Given the description of an element on the screen output the (x, y) to click on. 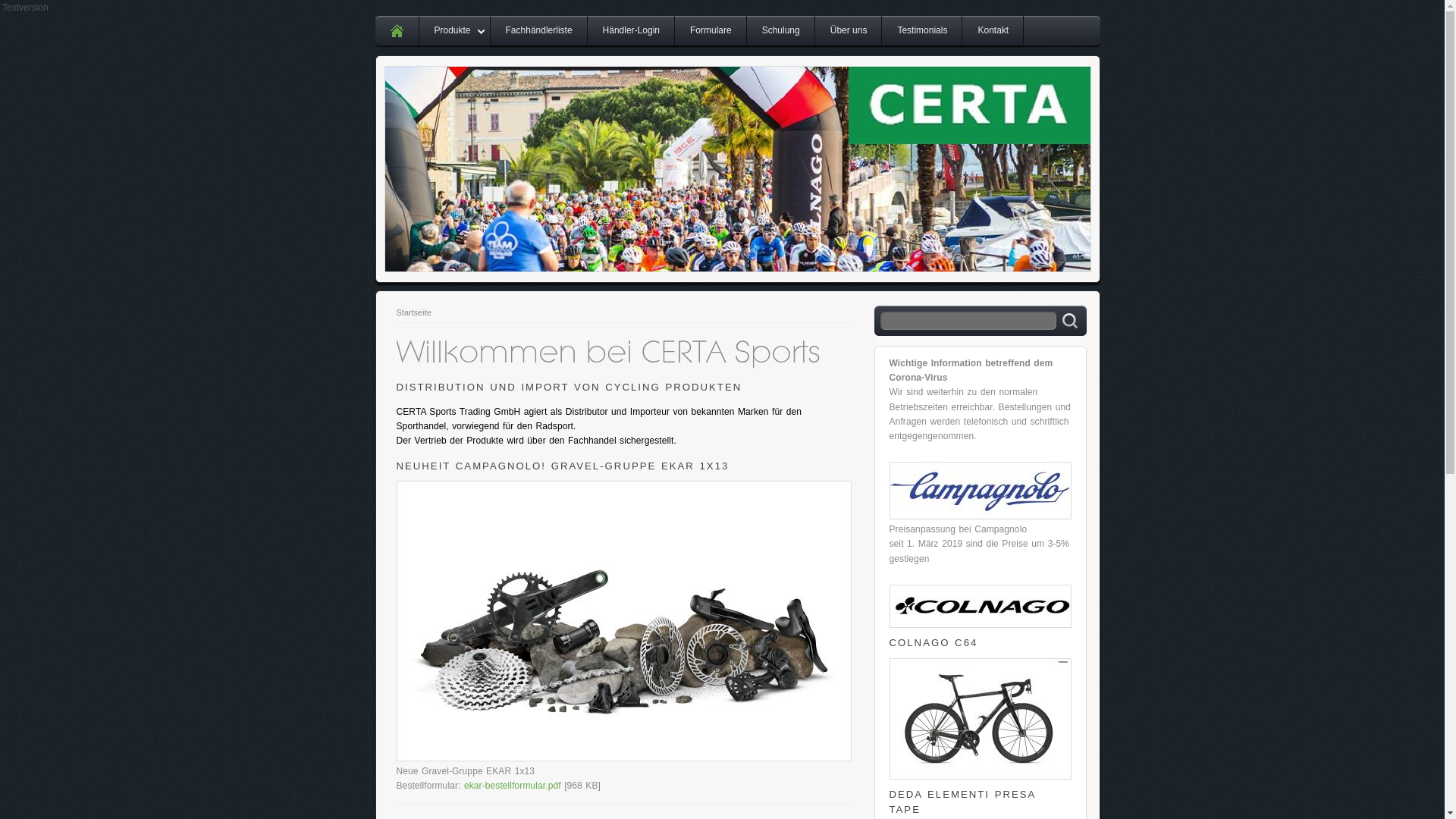
Testimonials Element type: text (921, 31)
Produkte Element type: text (453, 31)
Kontakt Element type: text (992, 31)
Startseite Element type: text (413, 311)
Schulung Element type: text (780, 31)
Textversion Element type: text (25, 7)
ekar-bestellformular.pdf Element type: text (512, 785)
  Element type: text (395, 31)
Formulare Element type: text (710, 31)
